Given the description of an element on the screen output the (x, y) to click on. 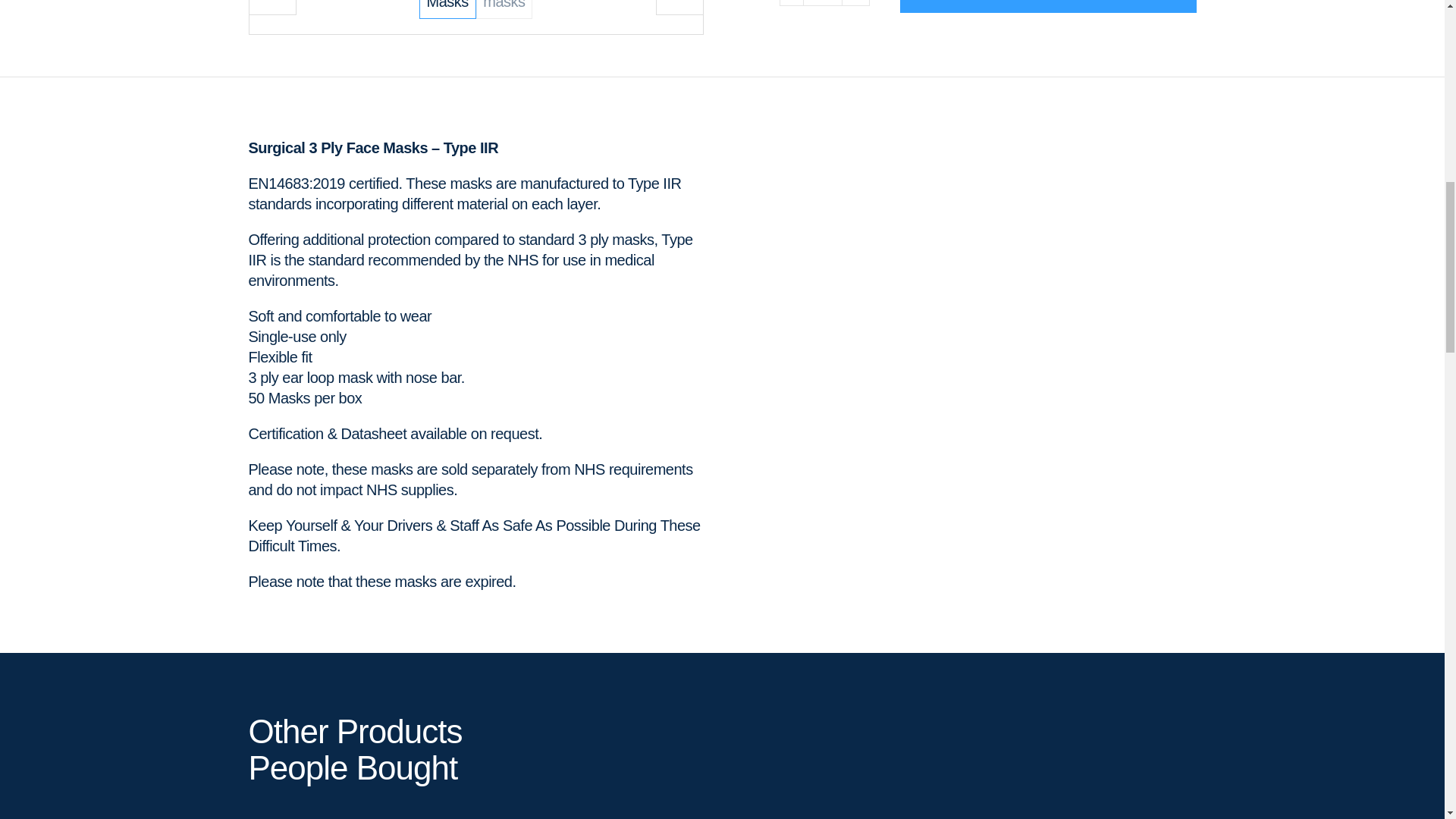
Qty (823, 2)
- (790, 2)
1 (823, 2)
